Given the description of an element on the screen output the (x, y) to click on. 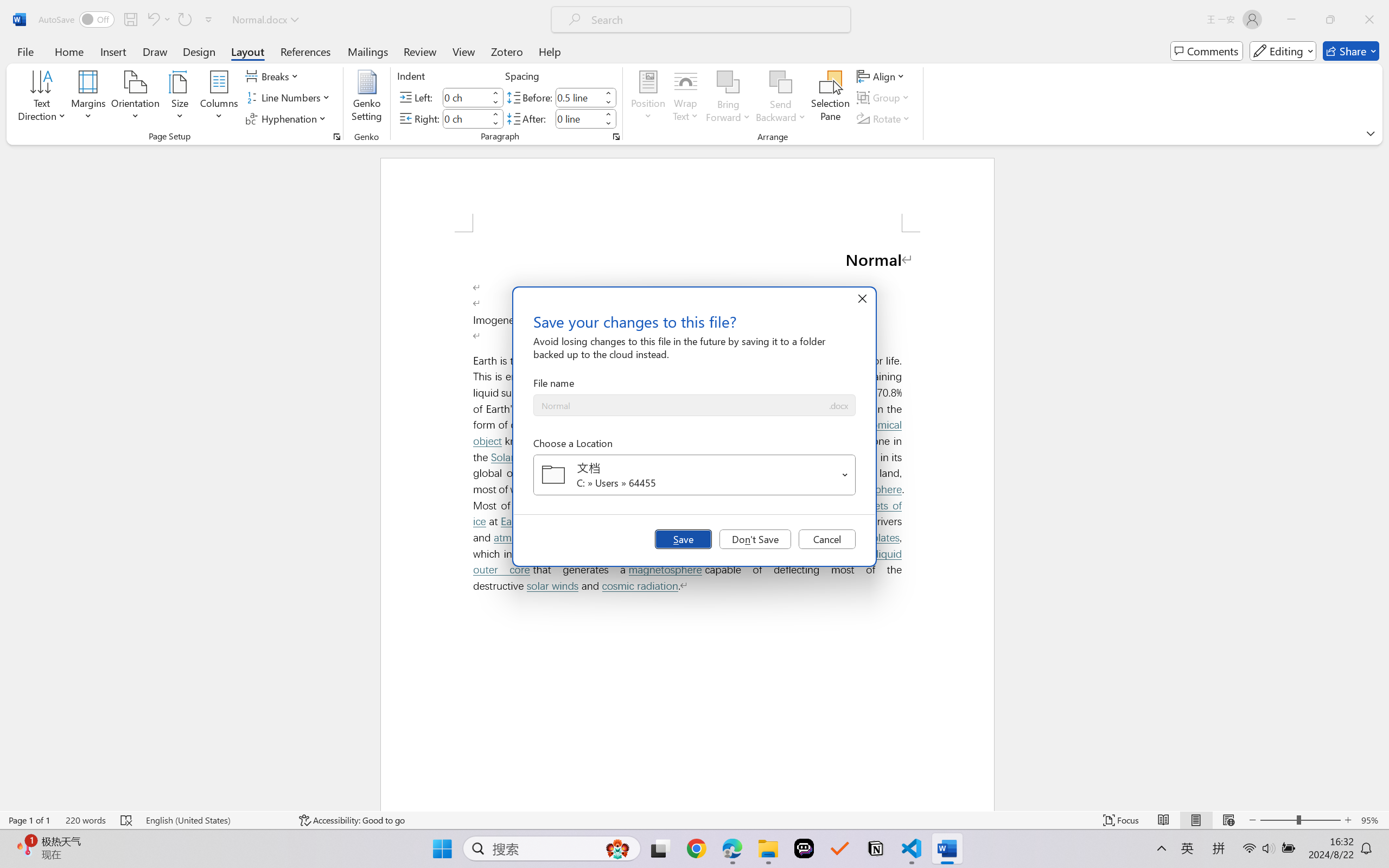
Text Direction (42, 97)
Bring Forward (728, 97)
Notion (875, 848)
Microsoft search (715, 19)
Rotate (884, 118)
Header -Section 1- (687, 194)
Margins (88, 97)
cosmic radiation (639, 585)
